Given the description of an element on the screen output the (x, y) to click on. 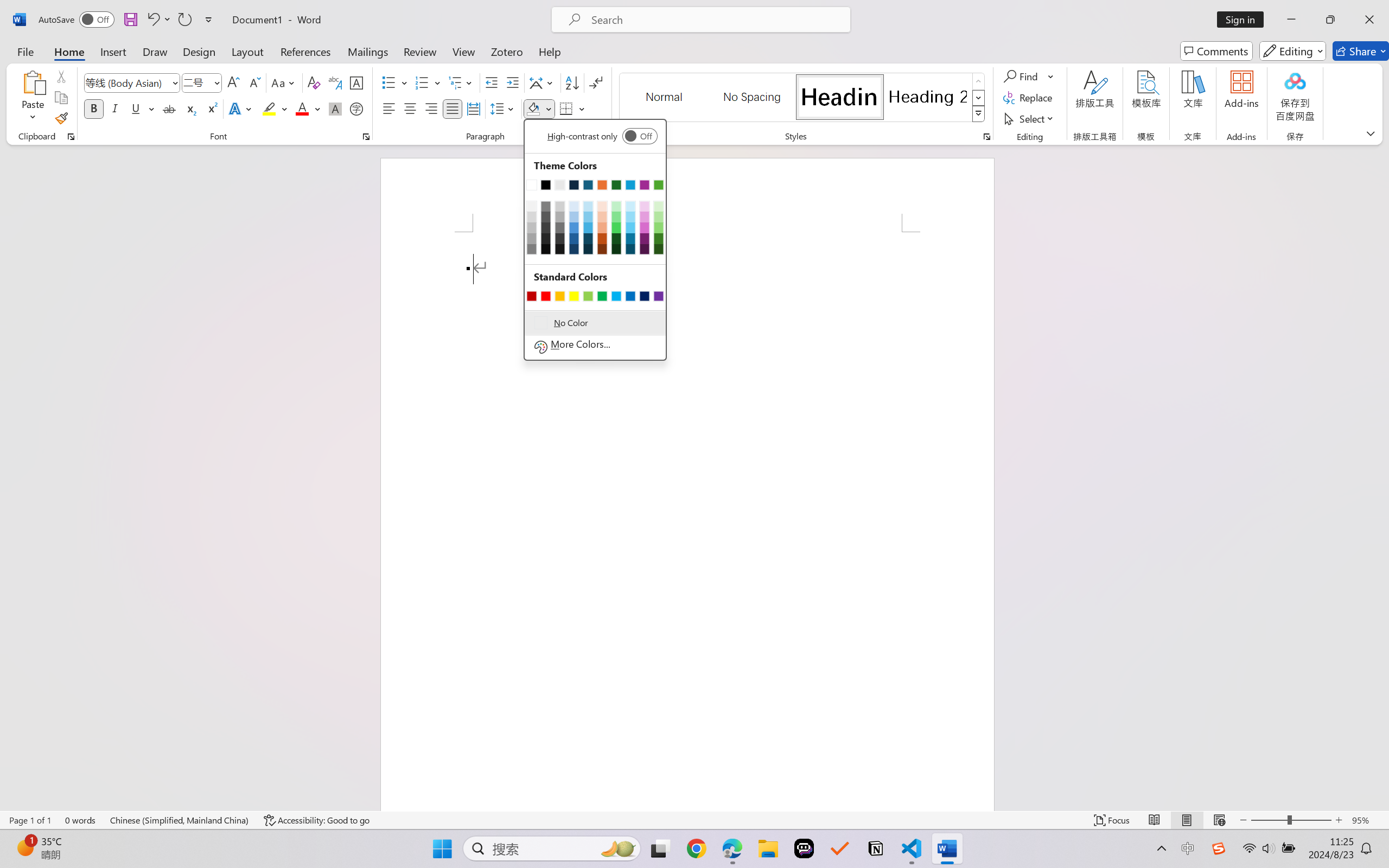
Editing (1292, 50)
